Given the description of an element on the screen output the (x, y) to click on. 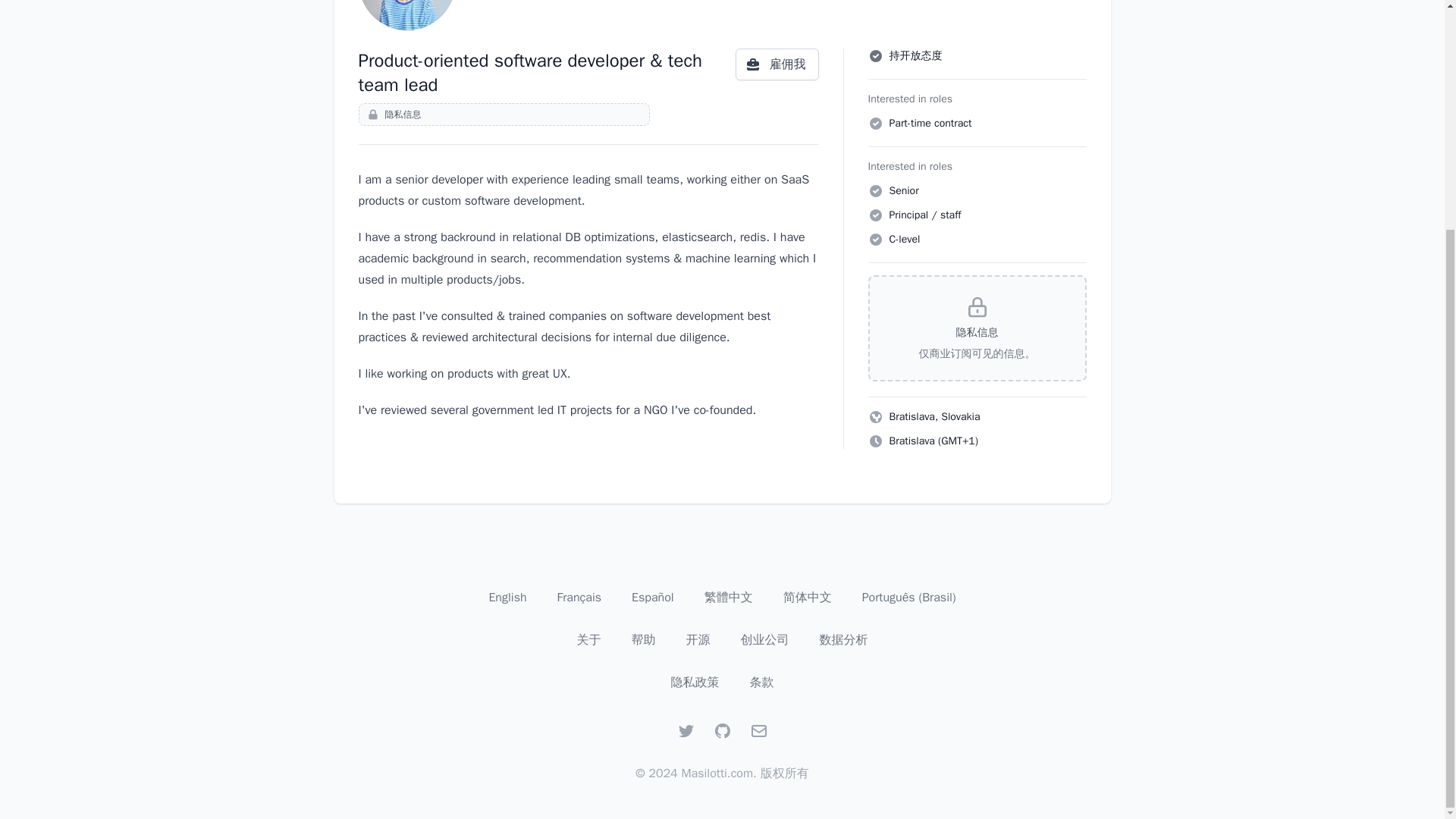
English (506, 597)
Check Circle (874, 191)
Check Circle (874, 239)
Clock (874, 441)
Masilotti.com (716, 773)
Twitter logo (685, 730)
Check Circle (874, 55)
Check Circle (874, 215)
GitHub (721, 730)
GitHub logo (721, 730)
Check Circle (874, 123)
Twitter (685, 730)
Email (758, 730)
